Given the description of an element on the screen output the (x, y) to click on. 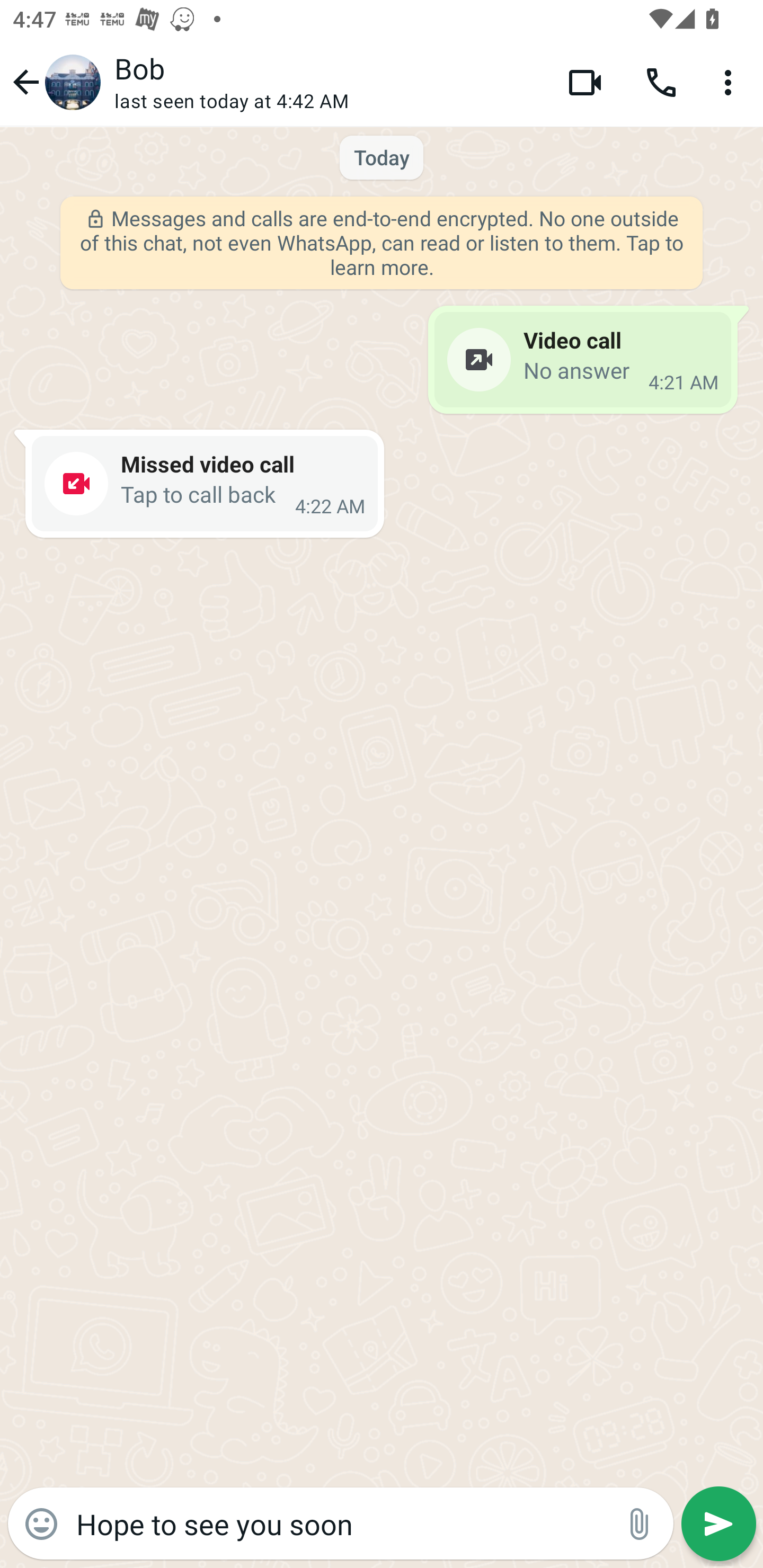
Bob last seen today at 4:42 AM (327, 82)
Navigate up (54, 82)
Video call (585, 81)
Voice call (661, 81)
More options (731, 81)
Emoji (41, 1523)
Attach (640, 1523)
Send (718, 1523)
Hope to see you soon (340, 1523)
